Given the description of an element on the screen output the (x, y) to click on. 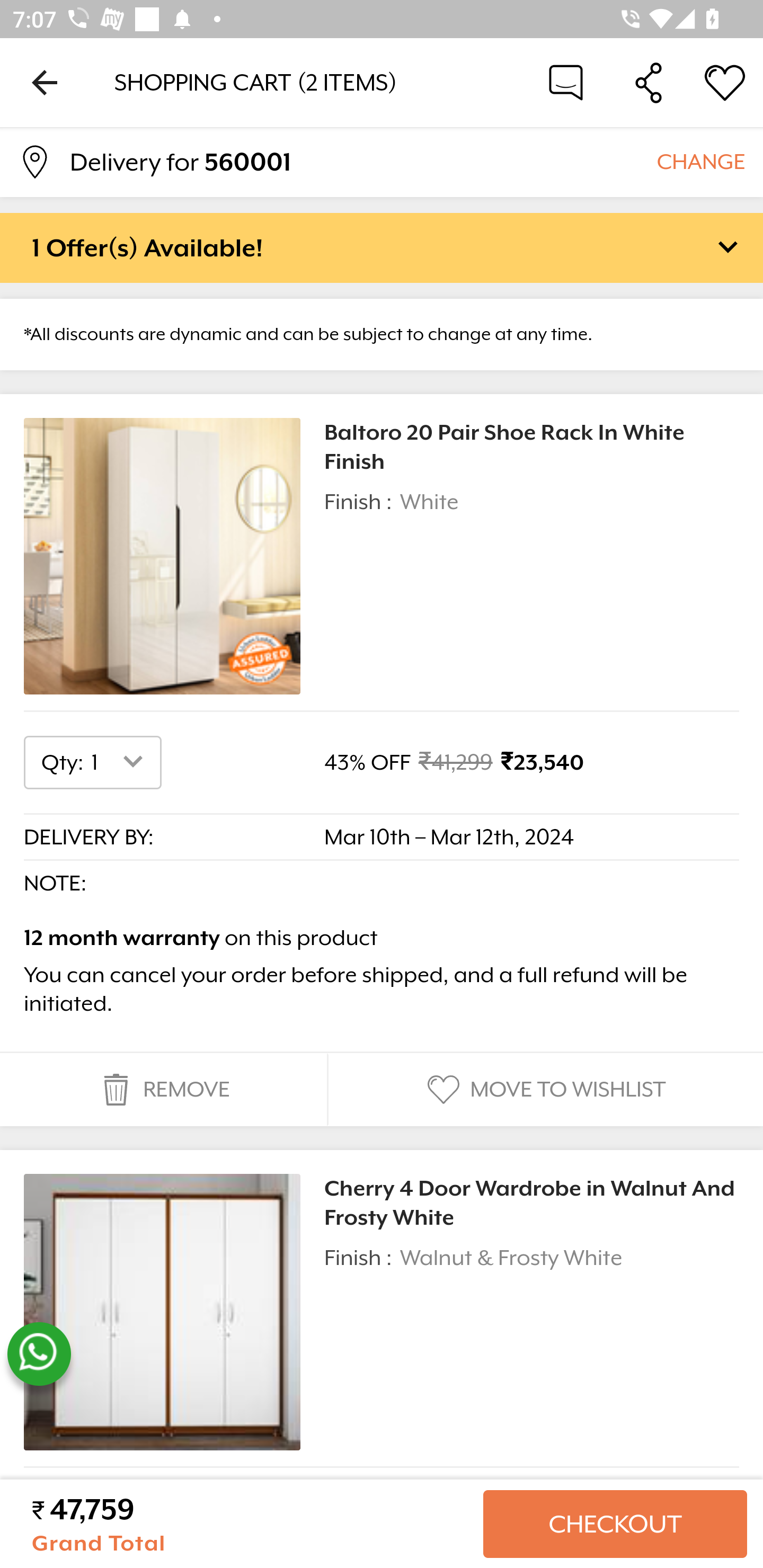
Navigate up (44, 82)
Chat (565, 81)
Share Cart (648, 81)
Wishlist (724, 81)
CHANGE (700, 161)
1 Offer(s) Available! (381, 247)
1 (121, 761)
REMOVE (163, 1089)
MOVE TO WISHLIST (544, 1089)
whatsapp (38, 1353)
₹ 47,759 Grand Total (250, 1523)
CHECKOUT (614, 1523)
